Given the description of an element on the screen output the (x, y) to click on. 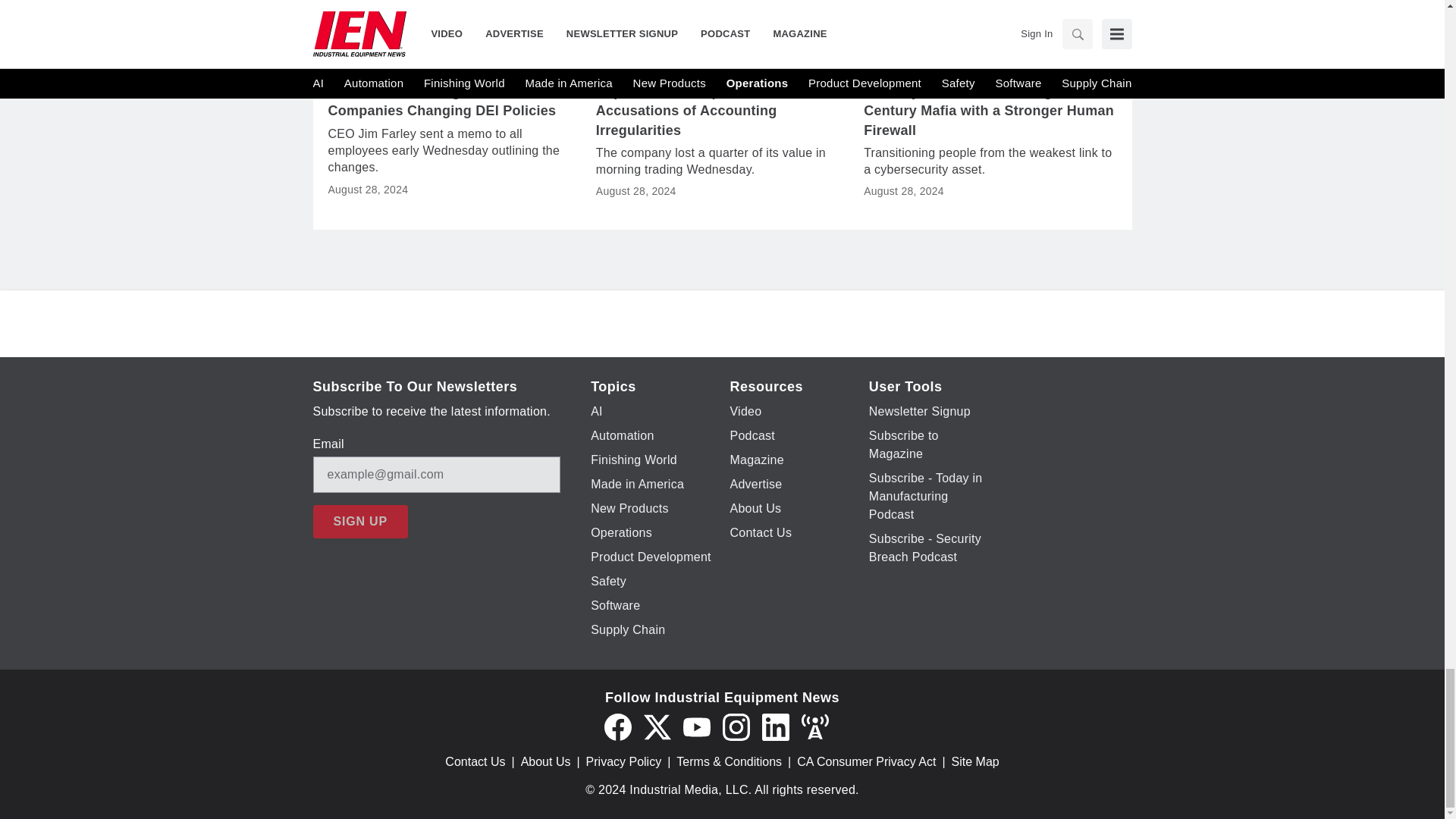
YouTube icon (696, 727)
Twitter X icon (656, 727)
LinkedIn icon (775, 727)
Facebook icon (617, 727)
Instagram icon (735, 727)
